Given the description of an element on the screen output the (x, y) to click on. 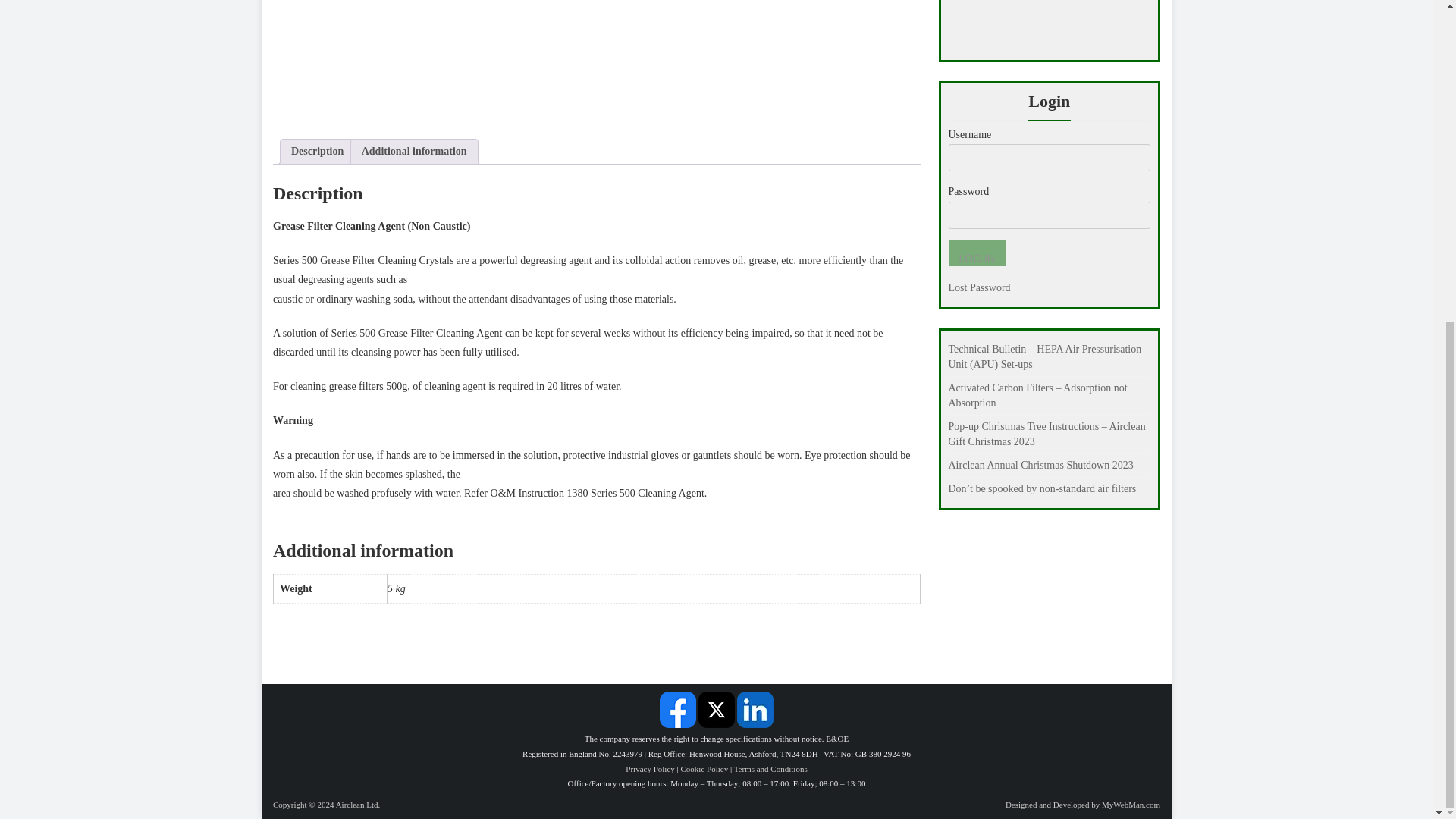
Log In (975, 252)
